Given the description of an element on the screen output the (x, y) to click on. 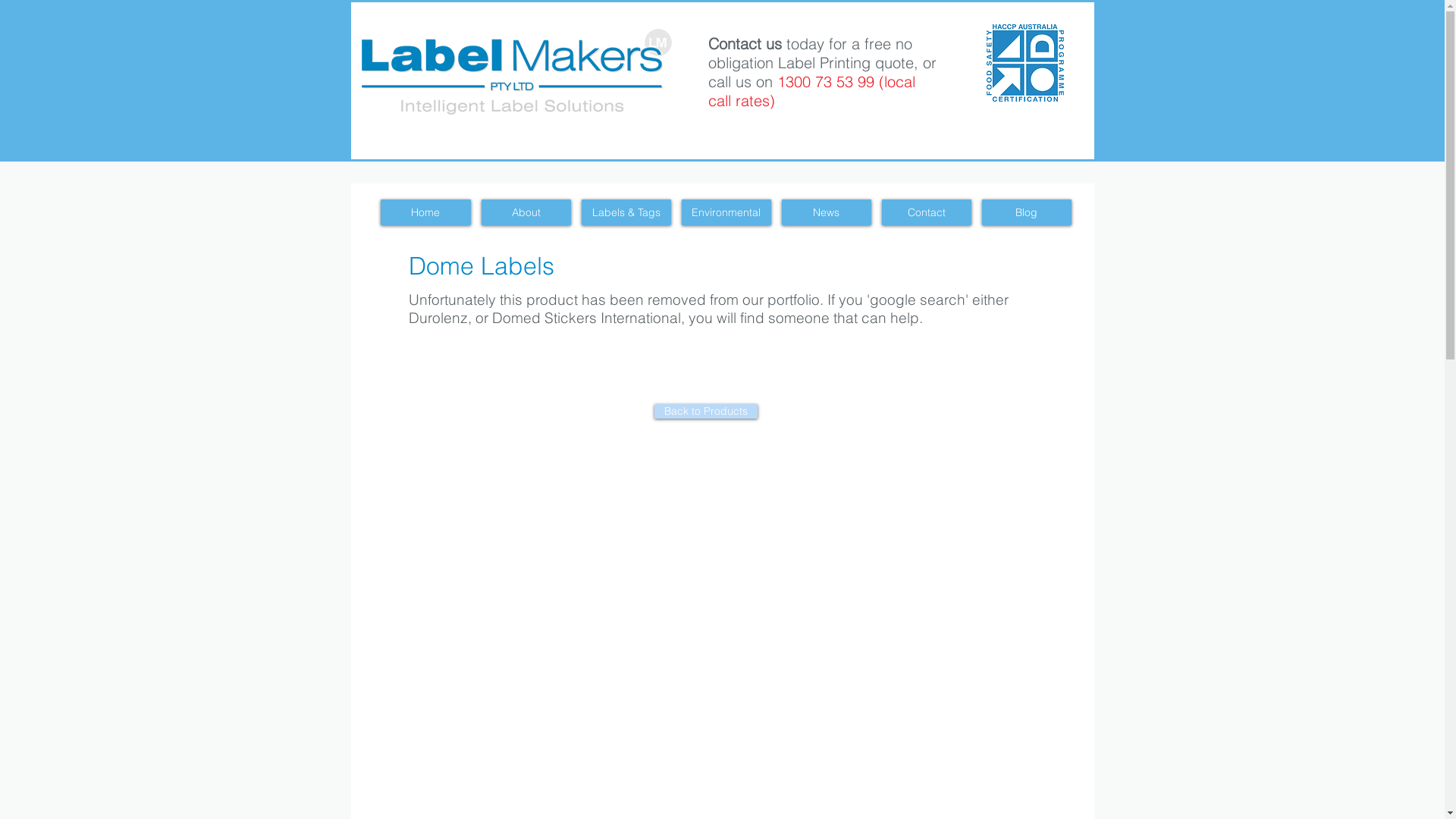
Back to Products Element type: text (704, 411)
Contact Element type: text (925, 212)
About Element type: text (525, 212)
Environmental Element type: text (725, 212)
Blog Element type: text (1025, 212)
Home Element type: text (425, 212)
News Element type: text (825, 212)
Contact us Element type: text (744, 43)
Labels & Tags Element type: text (625, 212)
haccp aust cert blue.png Element type: hover (1024, 62)
LM Web Logo.png Element type: hover (515, 71)
